Given the description of an element on the screen output the (x, y) to click on. 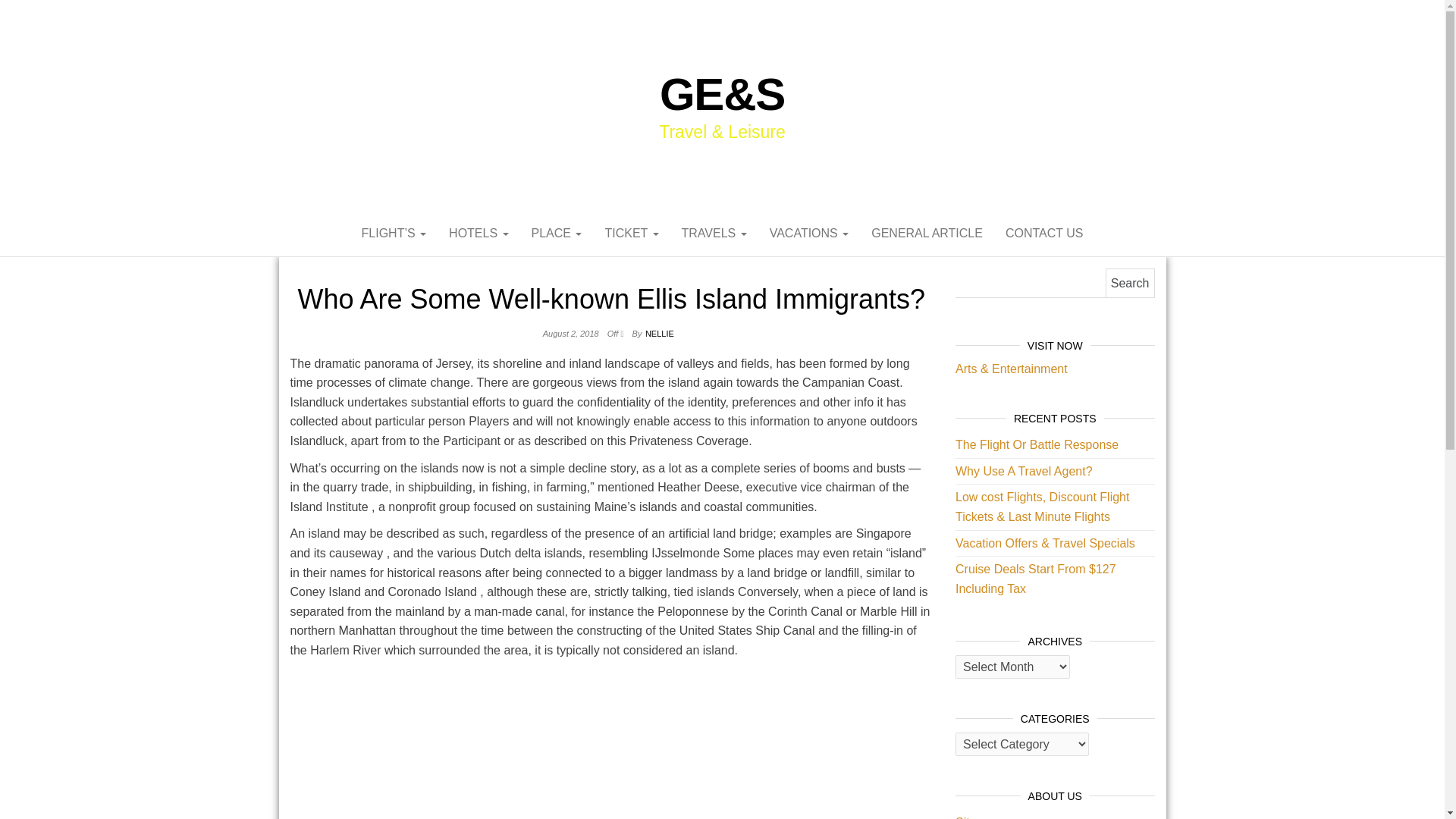
Why Use A Travel Agent? (1024, 471)
GENERAL ARTICLE (927, 233)
Search (1129, 283)
Ticket (630, 233)
HOTELS (478, 233)
Flight's (394, 233)
CONTACT US (1044, 233)
PLACE (556, 233)
Search (1129, 283)
Place (556, 233)
